Given the description of an element on the screen output the (x, y) to click on. 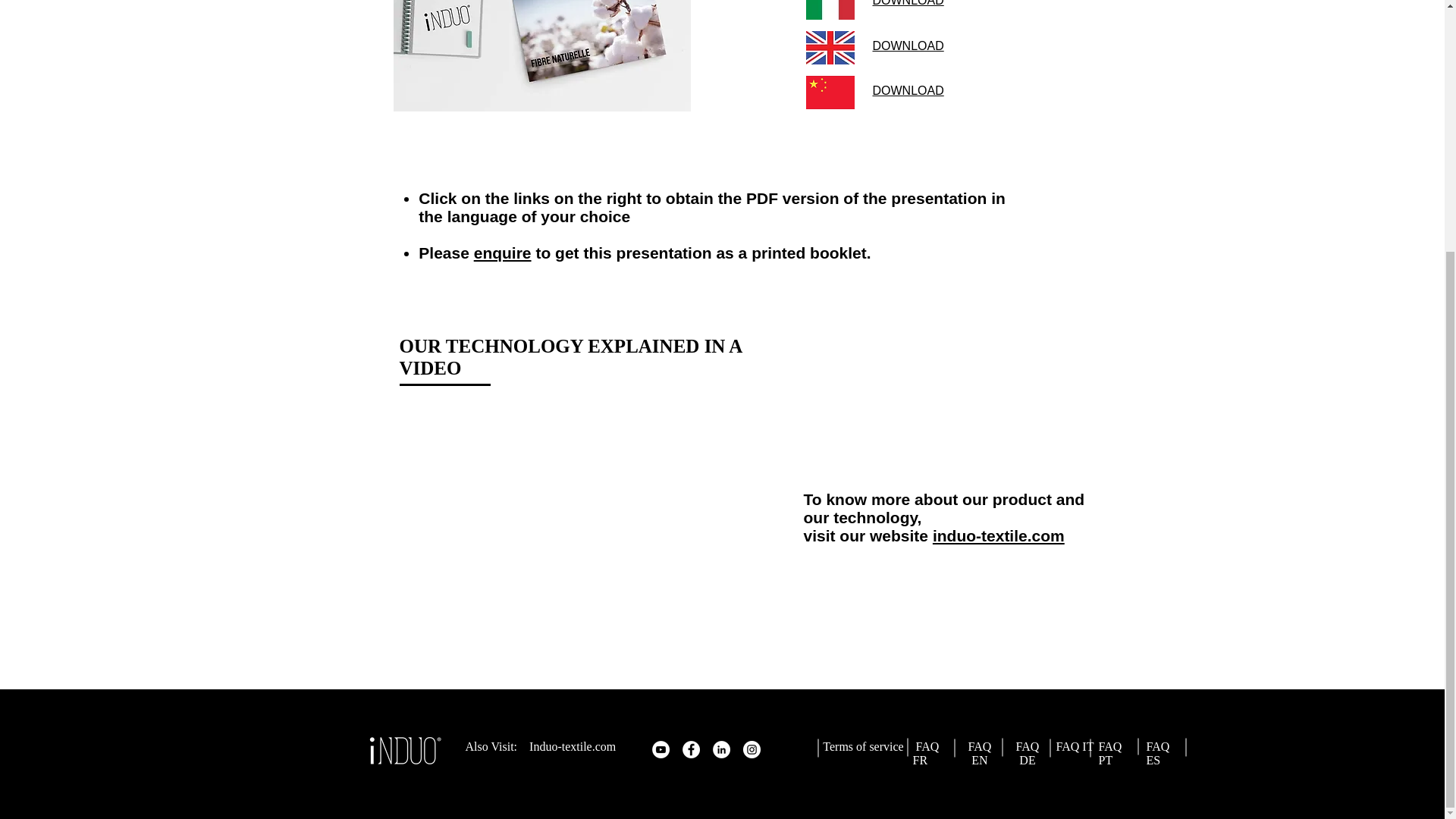
Induo-textile.com (572, 746)
induo-textile.com (998, 535)
 FAQ FR (925, 753)
DOWNLOAD (907, 3)
FAQ IT (1074, 746)
Terms of service  (863, 746)
DOWNLOAD (907, 90)
DOWNLOAD (907, 45)
enquire (502, 252)
